Given the description of an element on the screen output the (x, y) to click on. 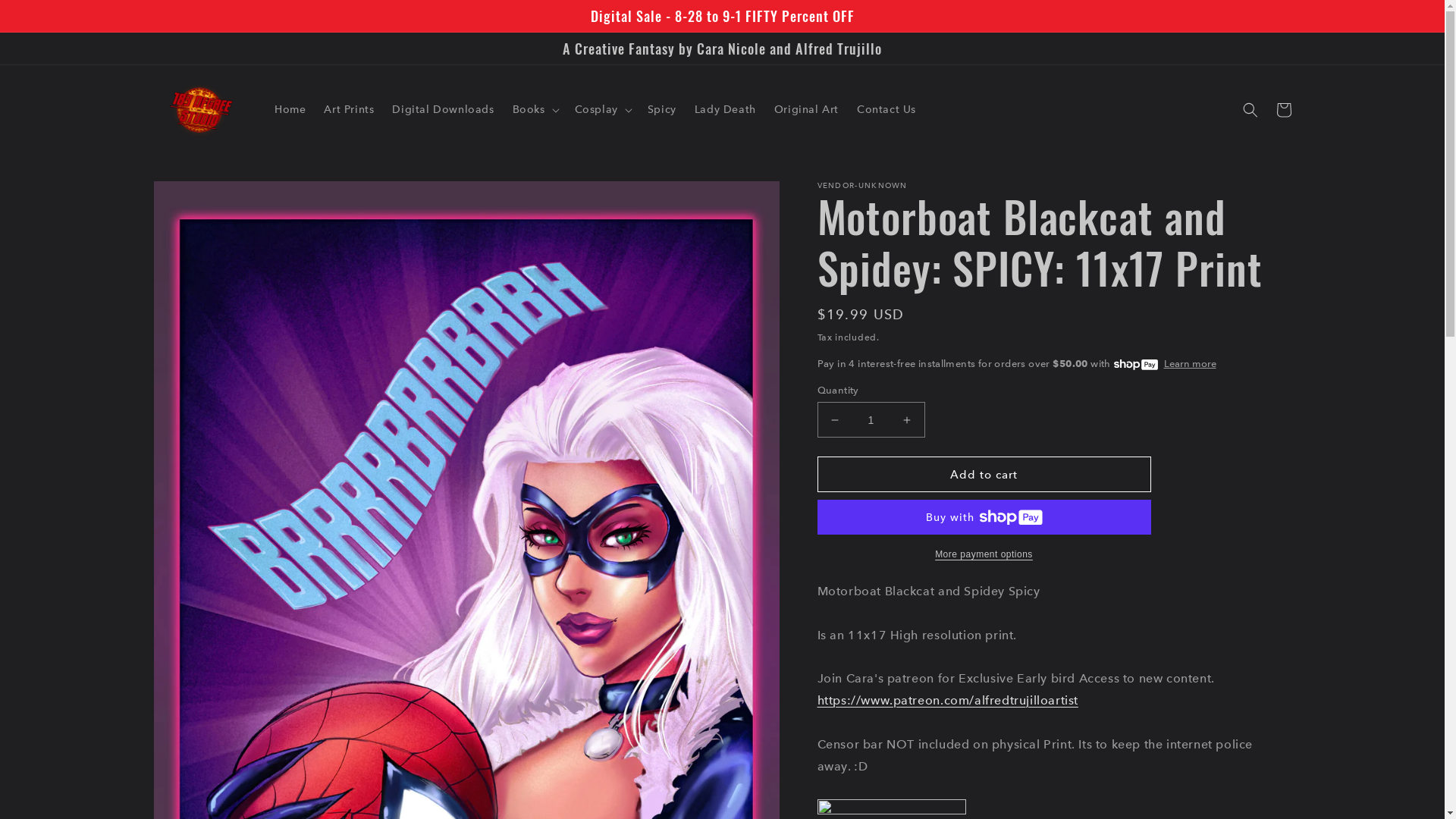
Contact Us Element type: text (886, 109)
Lady Death Element type: text (725, 109)
Spicy Element type: text (661, 109)
Original Art Element type: text (806, 109)
Home Element type: text (289, 109)
More payment options Element type: text (984, 553)
Skip to product information Element type: text (199, 198)
Art Prints Element type: text (348, 109)
Digital Downloads Element type: text (442, 109)
Cart Element type: text (1282, 109)
Add to cart Element type: text (984, 474)
https://www.patreon.com/alfredtrujilloartist Element type: text (947, 700)
